Given the description of an element on the screen output the (x, y) to click on. 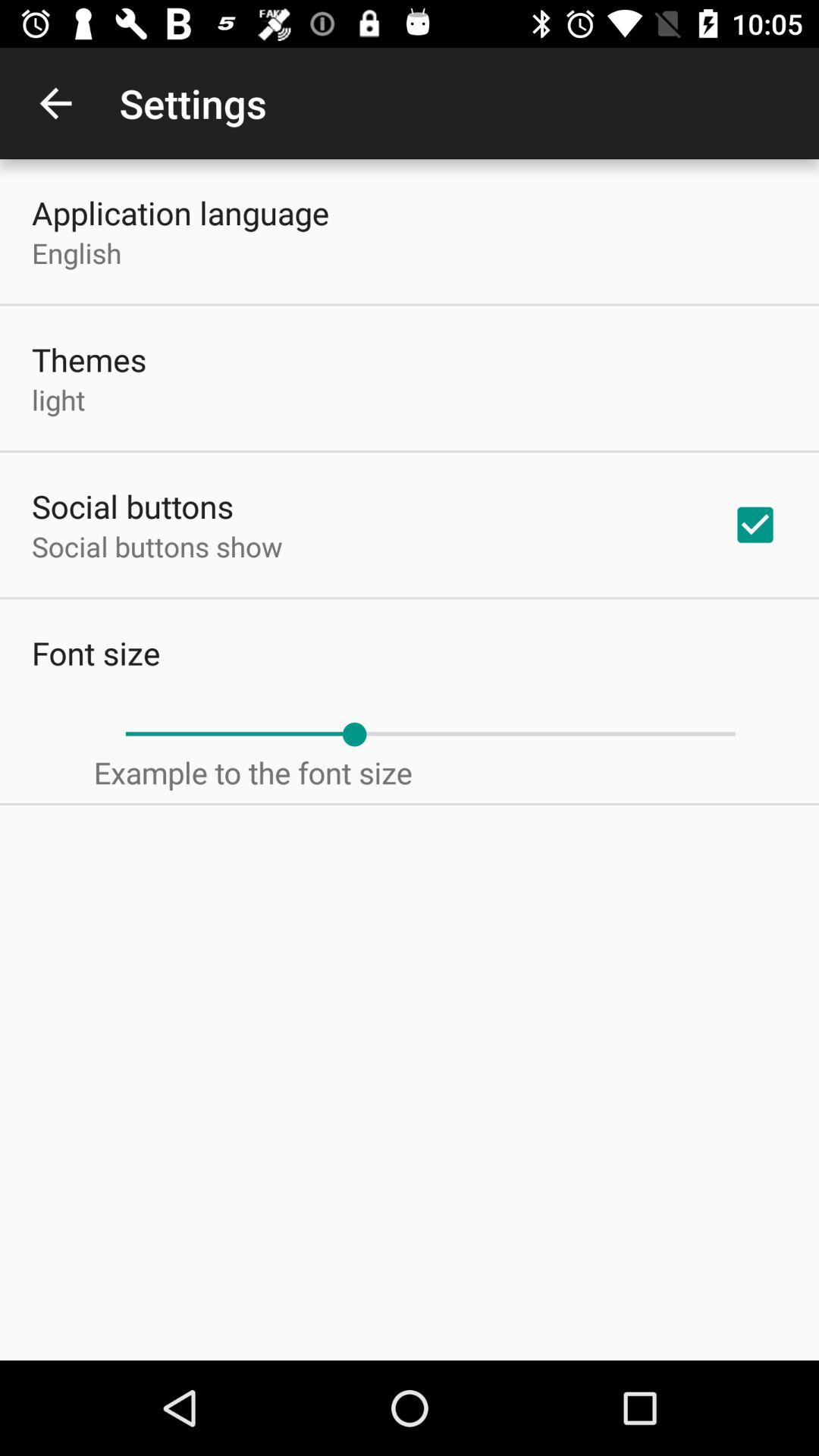
click app to the left of settings icon (55, 103)
